Given the description of an element on the screen output the (x, y) to click on. 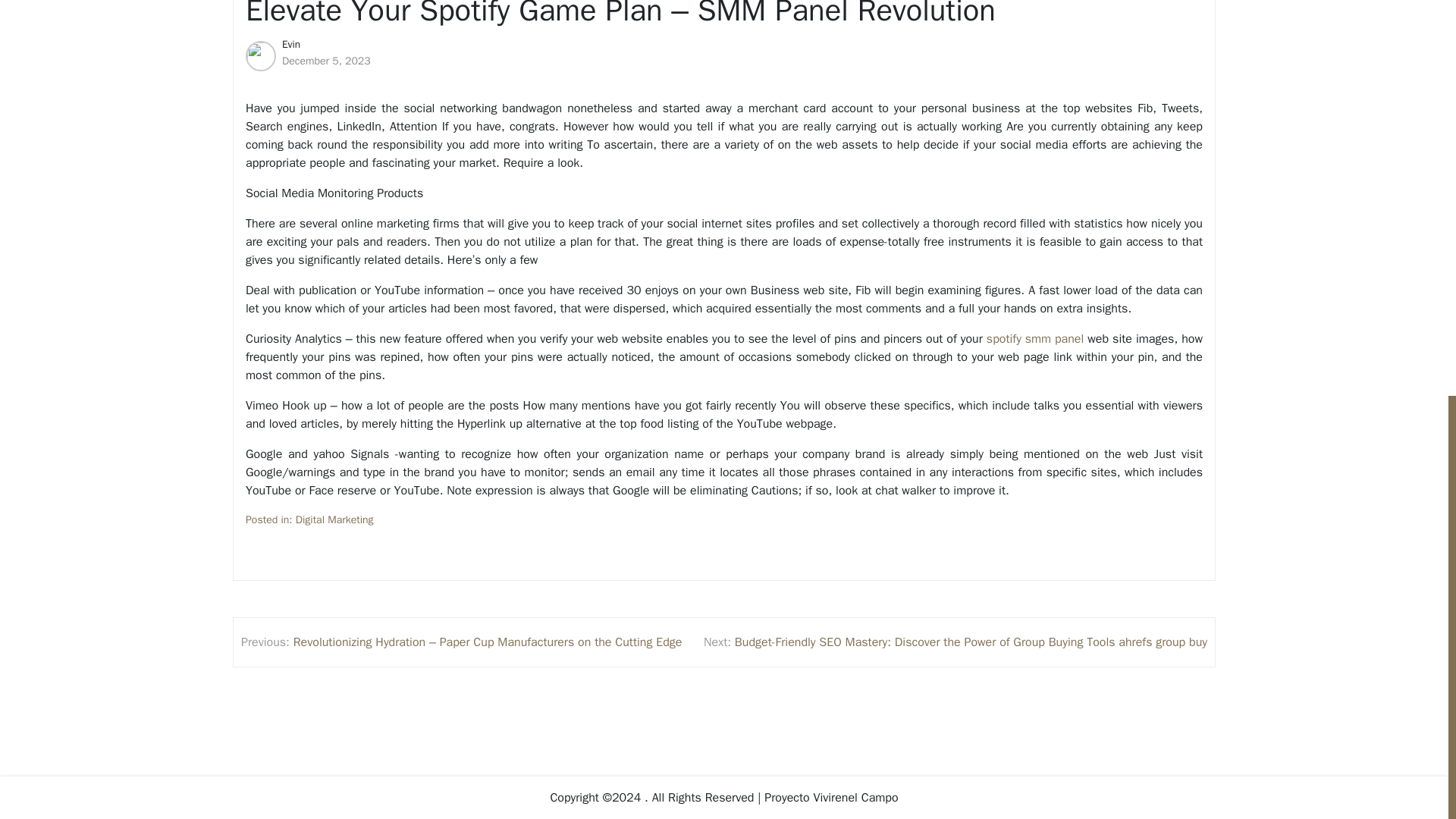
spotify smm panel (1035, 339)
Digital Marketing (334, 519)
Evin (290, 44)
